Given the description of an element on the screen output the (x, y) to click on. 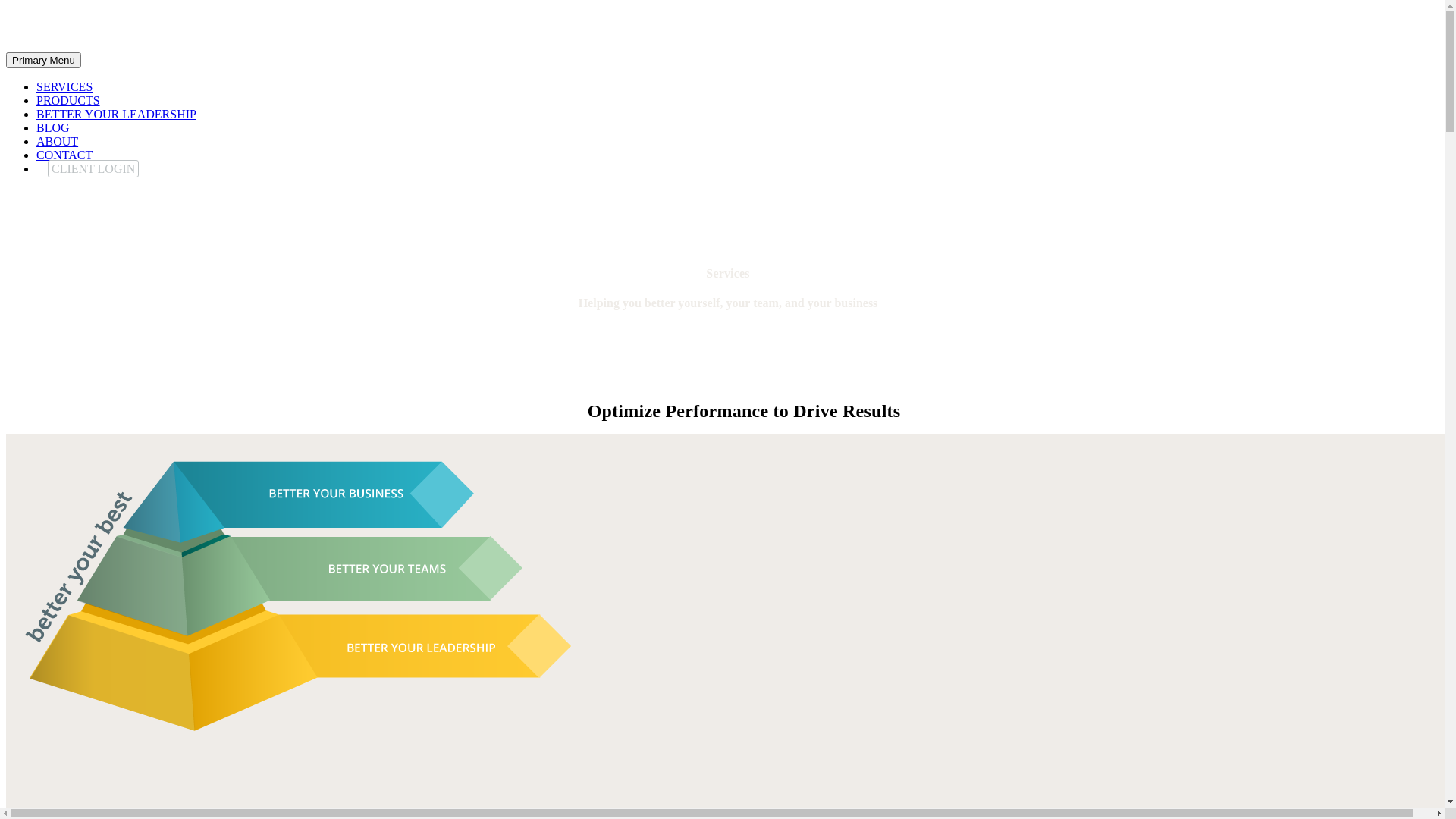
PRODUCTS Element type: text (68, 100)
CONTACT Element type: text (64, 154)
CLIENT LOGIN Element type: text (92, 168)
ABOUT Element type: text (57, 140)
BETTER YOUR LEADERSHIP Element type: text (116, 113)
Primary Menu Element type: text (43, 60)
BLOG Element type: text (52, 127)
SERVICES Element type: text (64, 86)
